Given the description of an element on the screen output the (x, y) to click on. 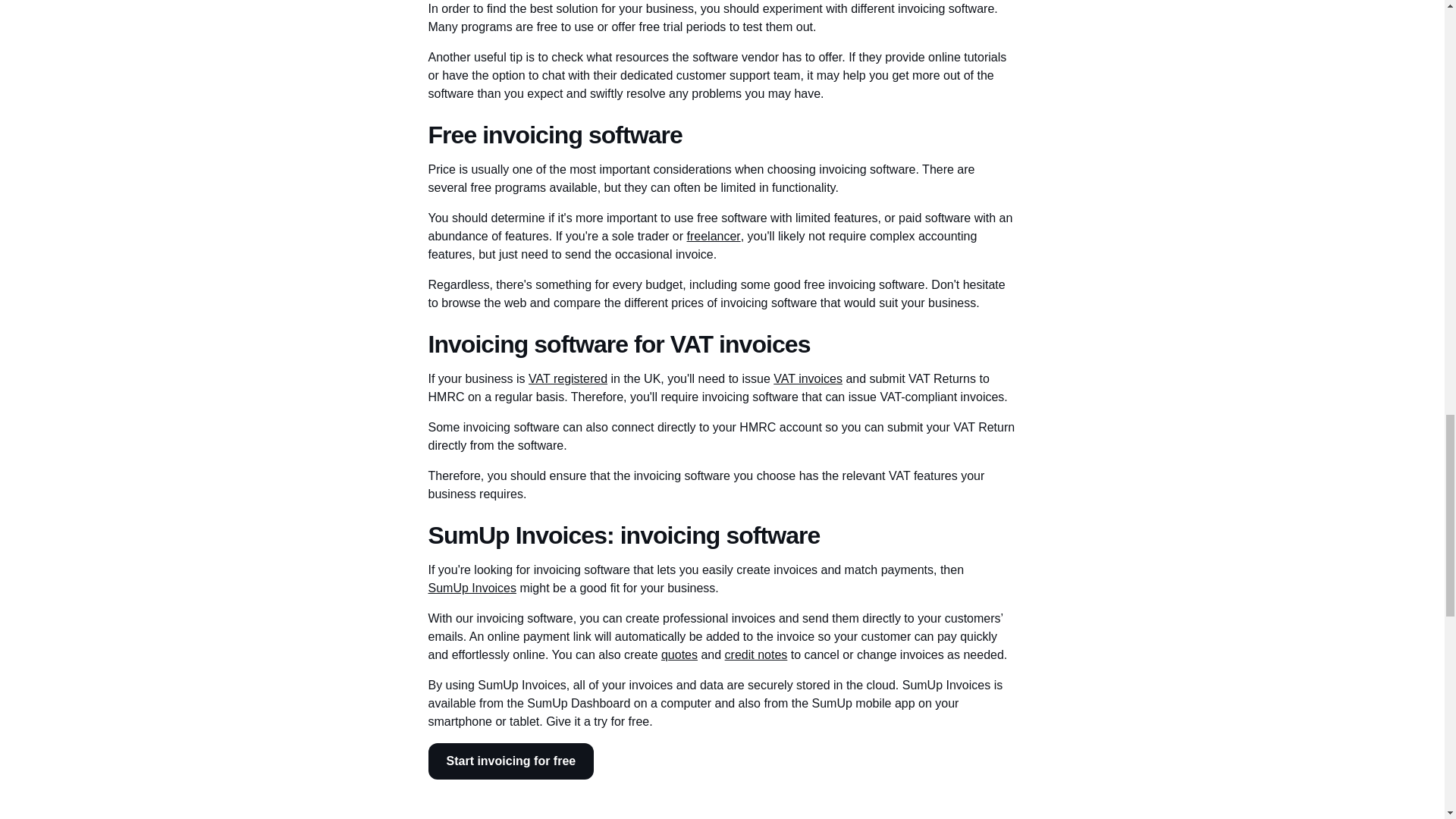
SumUp Invoices (472, 588)
quotes (679, 655)
VAT invoices (808, 379)
freelancer (714, 236)
VAT registered (567, 379)
credit notes (756, 655)
